Given the description of an element on the screen output the (x, y) to click on. 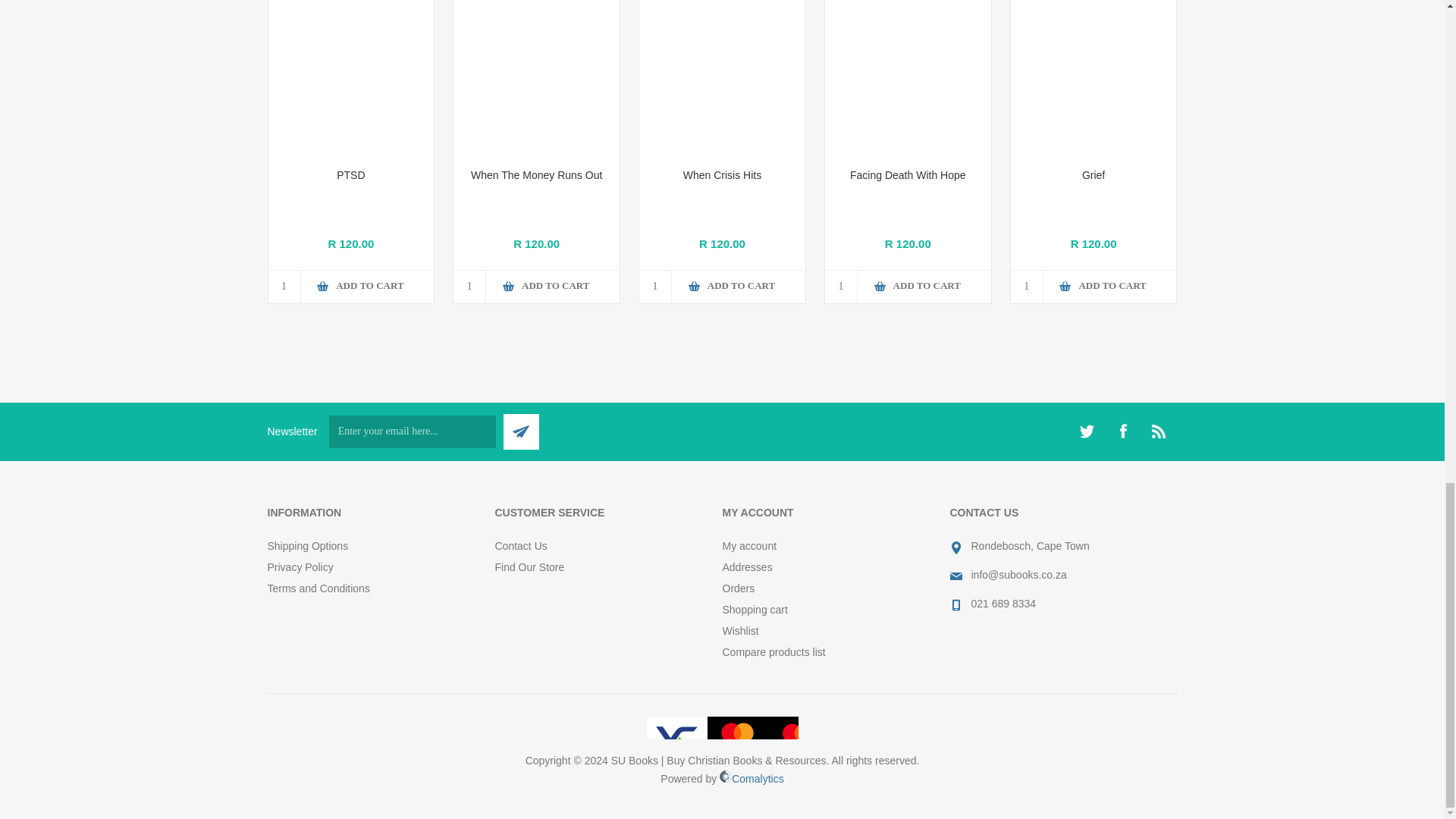
1 (284, 287)
1 (469, 287)
1 (841, 287)
1 (1026, 287)
1 (655, 287)
